Given the description of an element on the screen output the (x, y) to click on. 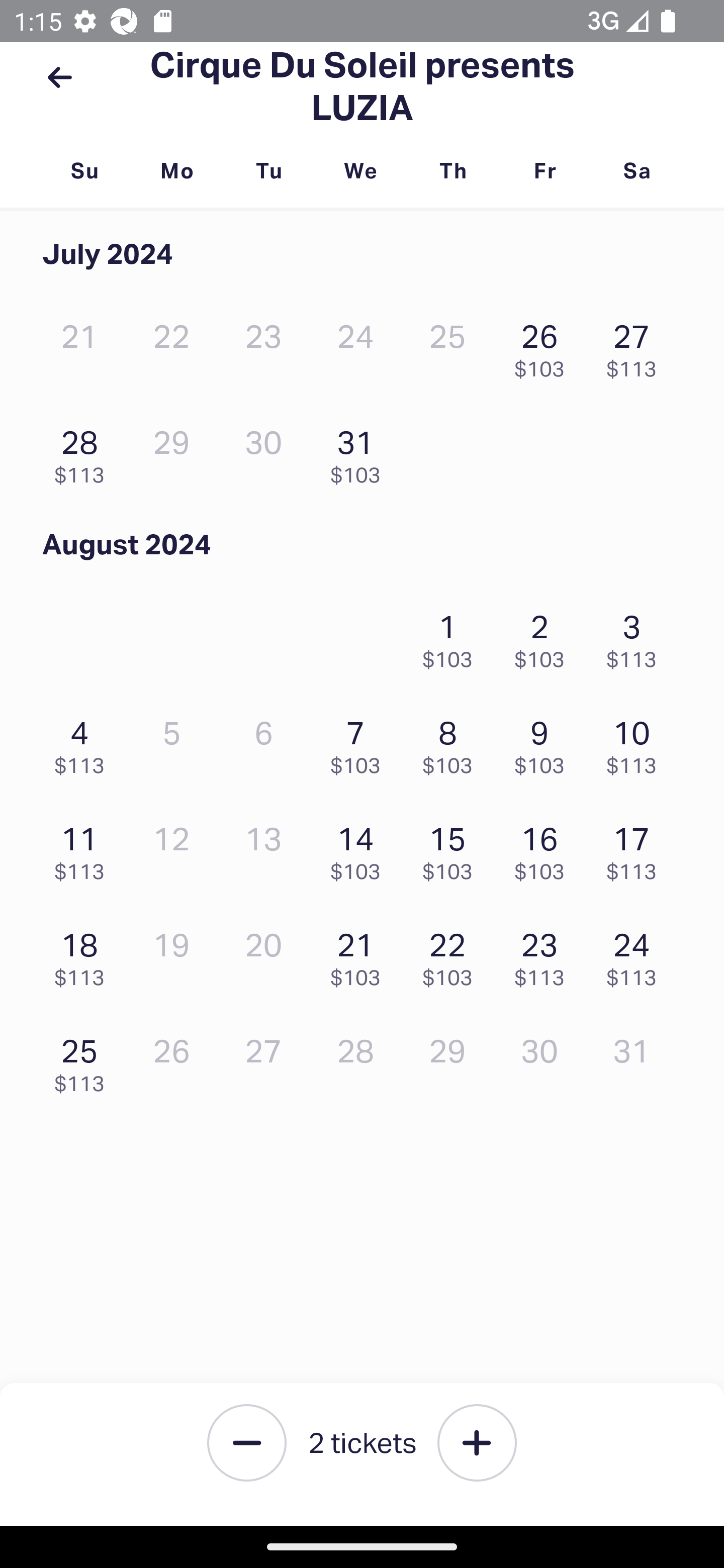
back button (59, 77)
26 $103 (544, 345)
27 $113 (636, 345)
28 $113 (84, 451)
31 $103 (360, 451)
1 $103 (452, 636)
2 $103 (544, 636)
3 $113 (636, 636)
4 $113 (84, 742)
7 $103 (360, 742)
8 $103 (452, 742)
9 $103 (544, 742)
10 $113 (636, 742)
11 $113 (84, 848)
14 $103 (360, 848)
15 $103 (452, 848)
16 $103 (544, 848)
17 $113 (636, 848)
18 $113 (84, 953)
21 $103 (360, 953)
22 $103 (452, 953)
23 $113 (544, 953)
24 $113 (636, 953)
25 $113 (84, 1060)
